Given the description of an element on the screen output the (x, y) to click on. 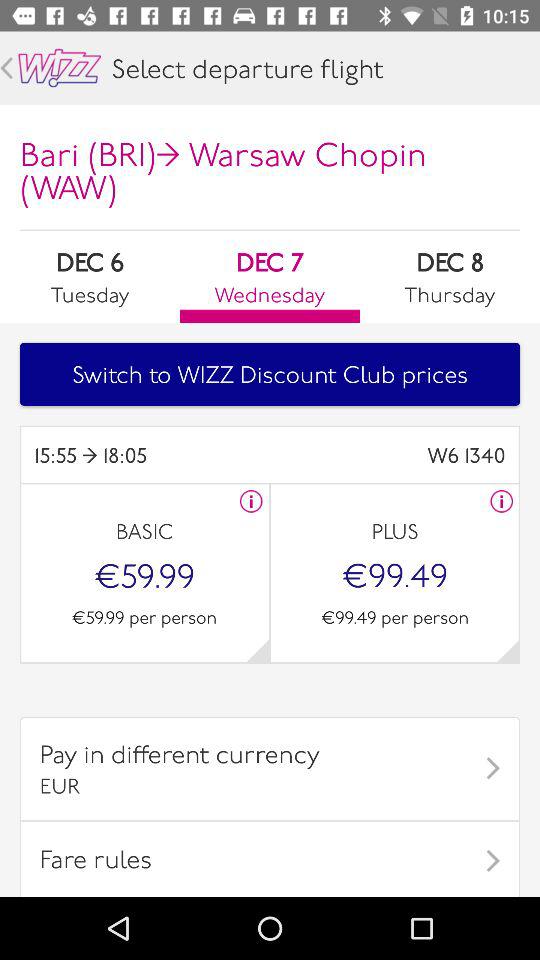
turn on the icon below the switch to wizz (152, 454)
